Given the description of an element on the screen output the (x, y) to click on. 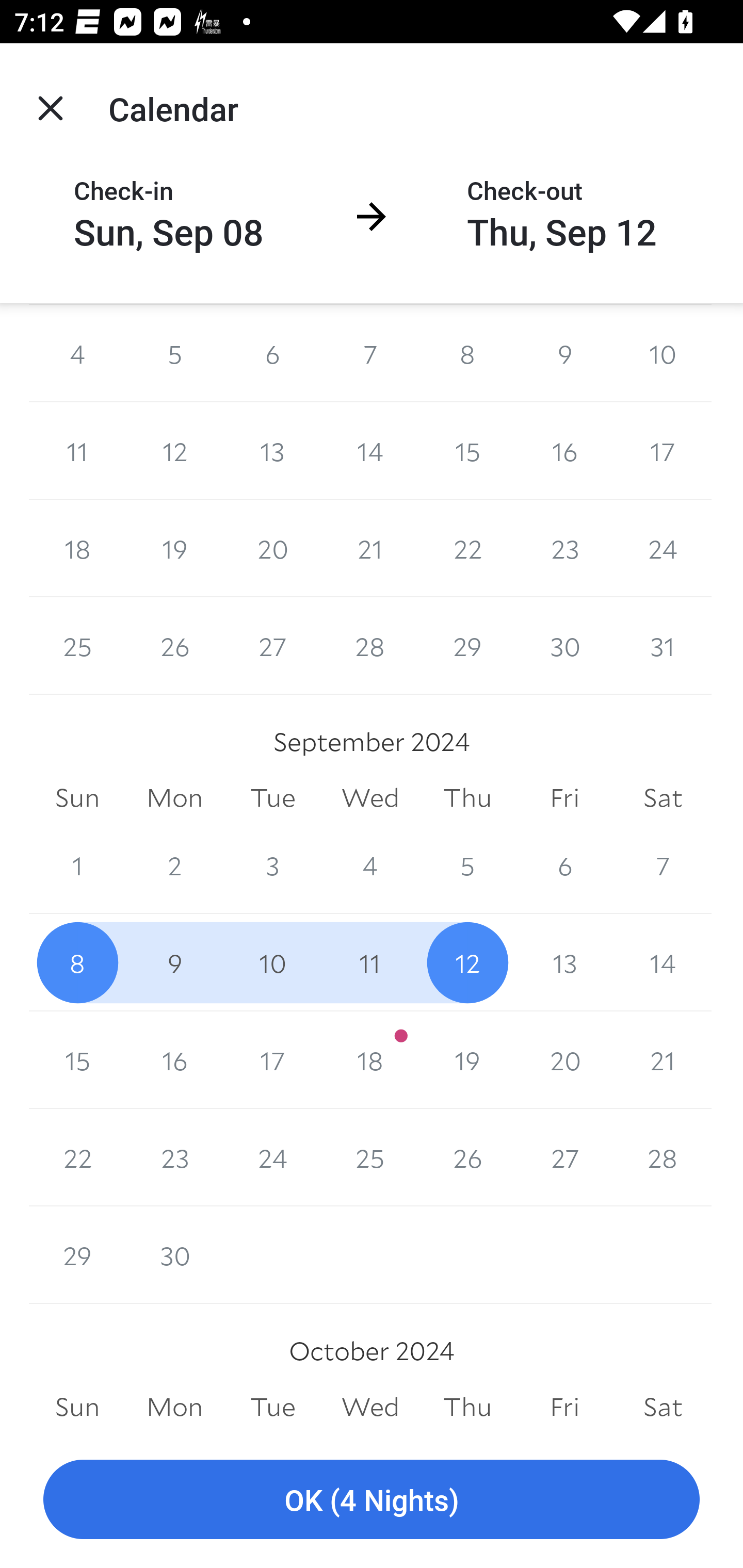
4 4 August 2024 (77, 353)
5 5 August 2024 (174, 353)
6 6 August 2024 (272, 353)
7 7 August 2024 (370, 353)
8 8 August 2024 (467, 353)
9 9 August 2024 (564, 353)
10 10 August 2024 (662, 353)
11 11 August 2024 (77, 451)
12 12 August 2024 (174, 451)
13 13 August 2024 (272, 451)
14 14 August 2024 (370, 451)
15 15 August 2024 (467, 451)
16 16 August 2024 (564, 451)
17 17 August 2024 (662, 451)
18 18 August 2024 (77, 548)
19 19 August 2024 (174, 548)
20 20 August 2024 (272, 548)
21 21 August 2024 (370, 548)
22 22 August 2024 (467, 548)
23 23 August 2024 (564, 548)
24 24 August 2024 (662, 548)
25 25 August 2024 (77, 645)
26 26 August 2024 (174, 645)
27 27 August 2024 (272, 645)
28 28 August 2024 (370, 645)
29 29 August 2024 (467, 645)
30 30 August 2024 (564, 645)
31 31 August 2024 (662, 645)
Sun (77, 797)
Mon (174, 797)
Tue (272, 797)
Wed (370, 797)
Thu (467, 797)
Fri (564, 797)
Sat (662, 797)
1 1 September 2024 (77, 865)
2 2 September 2024 (174, 865)
3 3 September 2024 (272, 865)
4 4 September 2024 (370, 865)
5 5 September 2024 (467, 865)
6 6 September 2024 (564, 865)
7 7 September 2024 (662, 865)
8 8 September 2024 (77, 962)
9 9 September 2024 (174, 962)
10 10 September 2024 (272, 962)
11 11 September 2024 (370, 962)
12 12 September 2024 (467, 962)
13 13 September 2024 (564, 962)
14 14 September 2024 (662, 962)
15 15 September 2024 (77, 1059)
16 16 September 2024 (174, 1059)
17 17 September 2024 (272, 1059)
18 18 September 2024 (370, 1059)
19 19 September 2024 (467, 1059)
20 20 September 2024 (564, 1059)
21 21 September 2024 (662, 1059)
22 22 September 2024 (77, 1156)
23 23 September 2024 (174, 1156)
24 24 September 2024 (272, 1156)
25 25 September 2024 (370, 1156)
26 26 September 2024 (467, 1156)
27 27 September 2024 (564, 1156)
28 28 September 2024 (662, 1156)
29 29 September 2024 (77, 1254)
30 30 September 2024 (174, 1254)
Sun (77, 1407)
Mon (174, 1407)
Tue (272, 1407)
Wed (370, 1407)
Thu (467, 1407)
Fri (564, 1407)
Sat (662, 1407)
OK (4 Nights) (371, 1499)
